Given the description of an element on the screen output the (x, y) to click on. 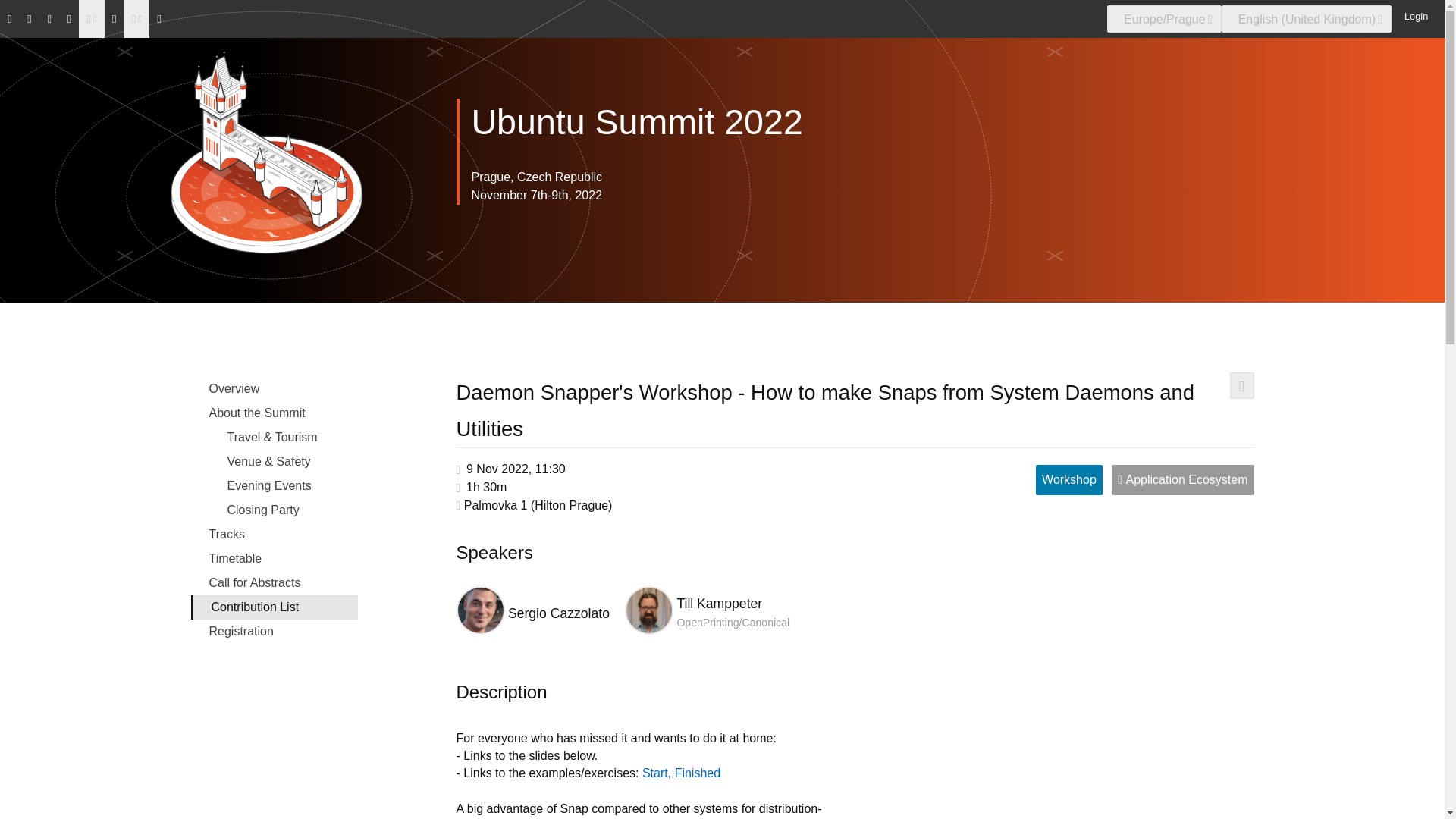
Login (1412, 15)
Tracks (274, 534)
Timetable (274, 558)
Duration (485, 486)
Closing Party (274, 509)
About the Summit (274, 413)
Evening Events (274, 485)
Overview (274, 388)
